Given the description of an element on the screen output the (x, y) to click on. 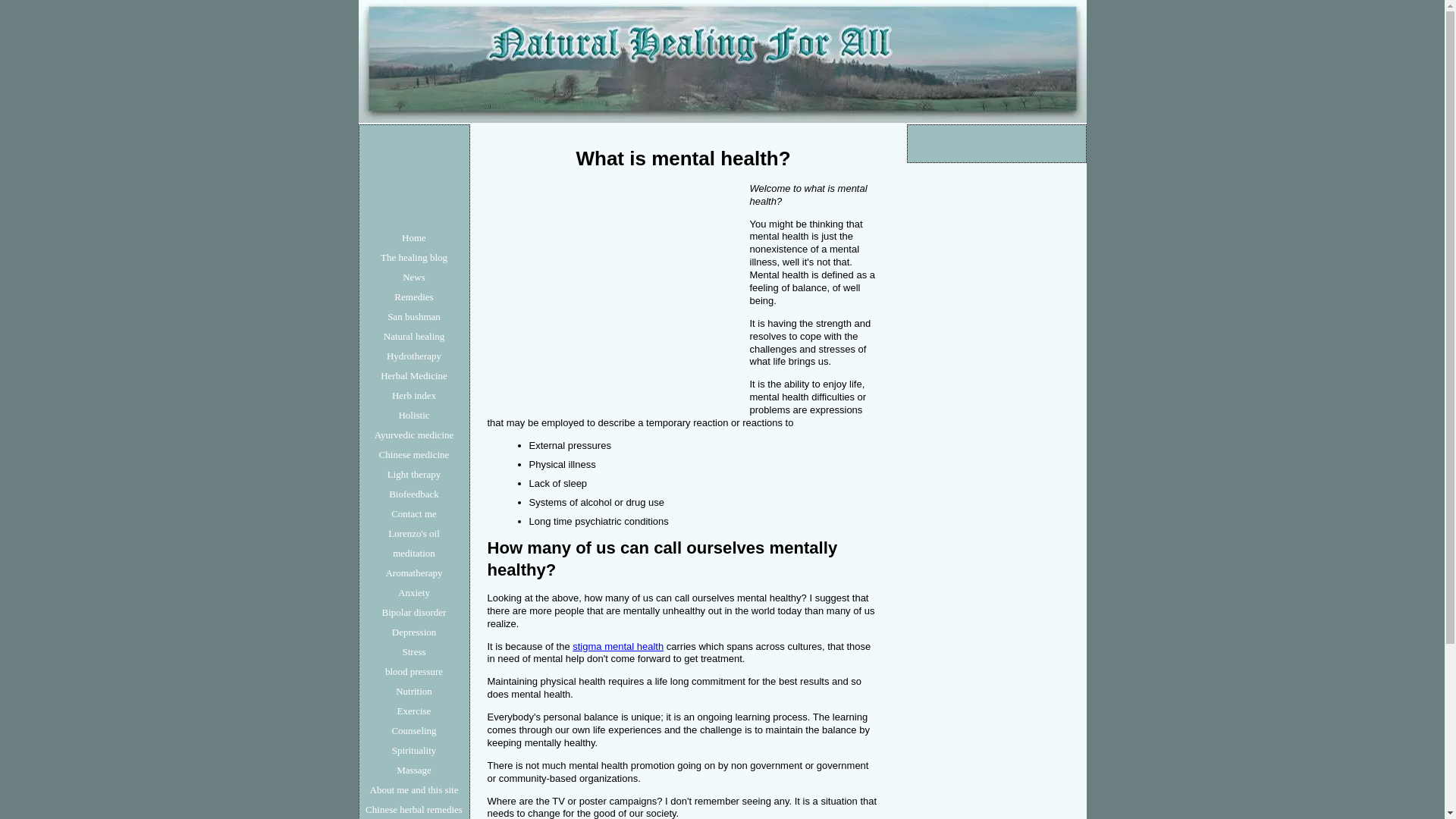
Remedies (413, 297)
The healing blog (413, 257)
Chinese medicine (413, 455)
Bipolar disorder (413, 612)
Stress (413, 651)
Exercise (413, 711)
meditation (413, 553)
Anxiety (413, 592)
Chinese herbal remedies (413, 809)
Ayurvedic medicine (413, 435)
